Given the description of an element on the screen output the (x, y) to click on. 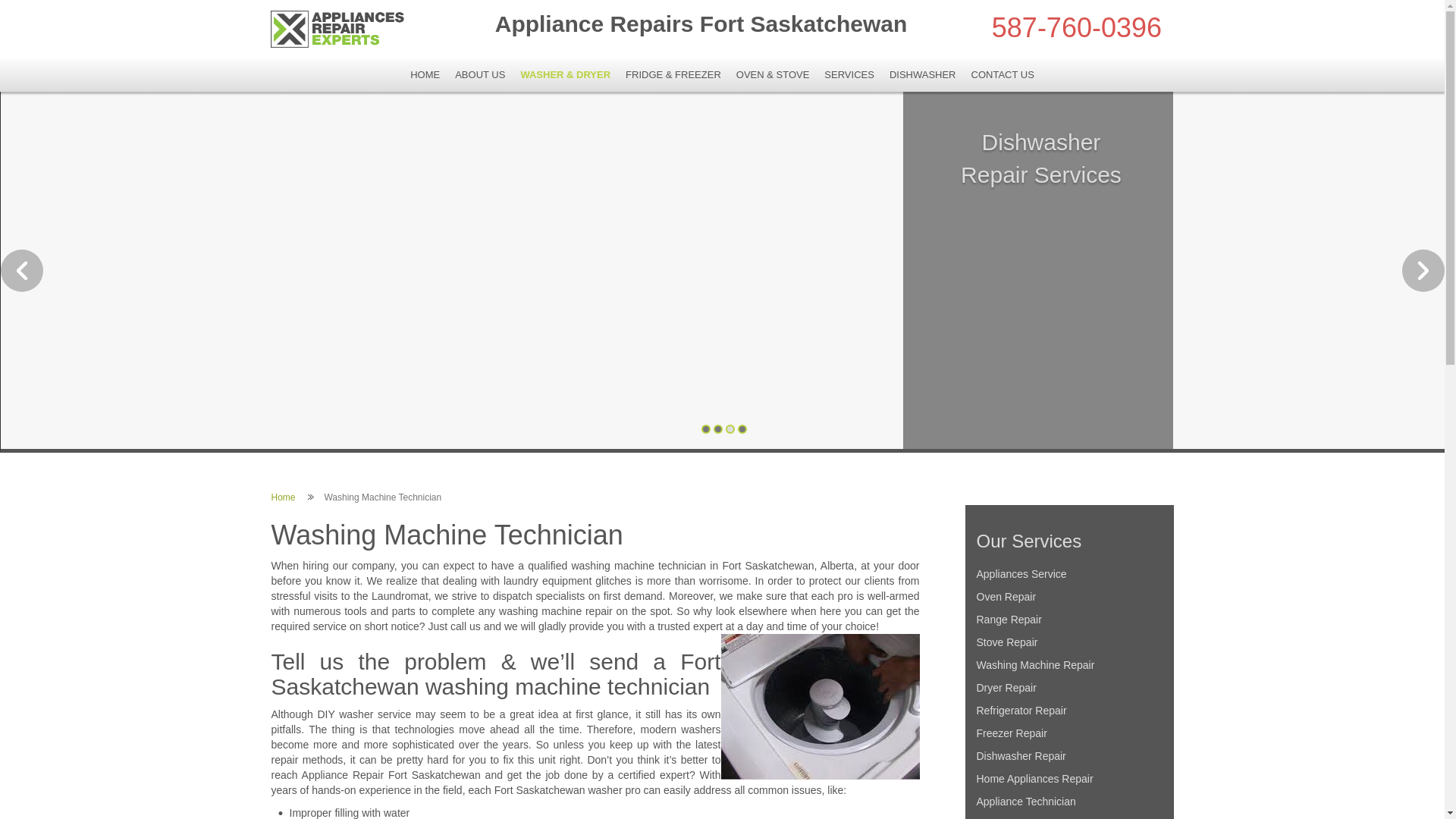
HOME Element type: text (424, 74)
CONTACT US Element type: text (1002, 74)
Home Appliances Repair Element type: text (1068, 778)
Stove Repair Element type: text (1068, 641)
Dryer Repair Element type: text (1068, 687)
DISHWASHER Element type: text (922, 74)
Range Repair Element type: text (1068, 619)
Appliances Service Element type: text (1068, 573)
OVEN & STOVE Element type: text (772, 74)
ABOUT US Element type: text (479, 74)
Washing Machine Repair Element type: text (1068, 664)
Oven Repair Element type: text (1068, 596)
WASHER & DRYER Element type: text (565, 74)
Refrigerator Repair Element type: text (1068, 710)
Dishwasher Repair Element type: text (1068, 755)
FRIDGE & FREEZER Element type: text (673, 74)
Appliance Technician Element type: text (1068, 801)
SERVICES Element type: text (848, 74)
Freezer Repair Element type: text (1068, 732)
Home Element type: text (283, 497)
